Given the description of an element on the screen output the (x, y) to click on. 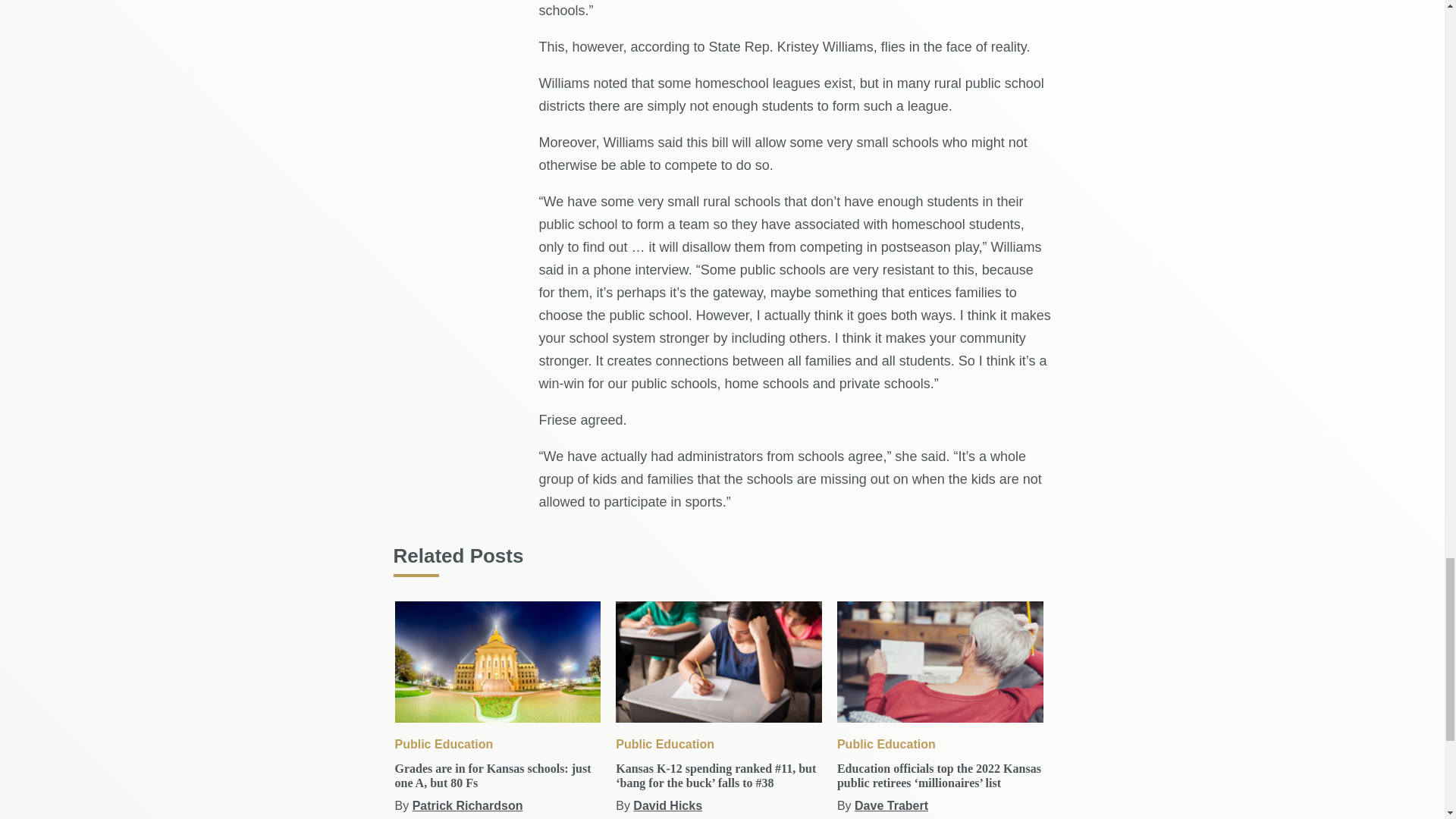
Grades are in for Kansas schools: just one A, but 80 Fs (496, 661)
